Given the description of an element on the screen output the (x, y) to click on. 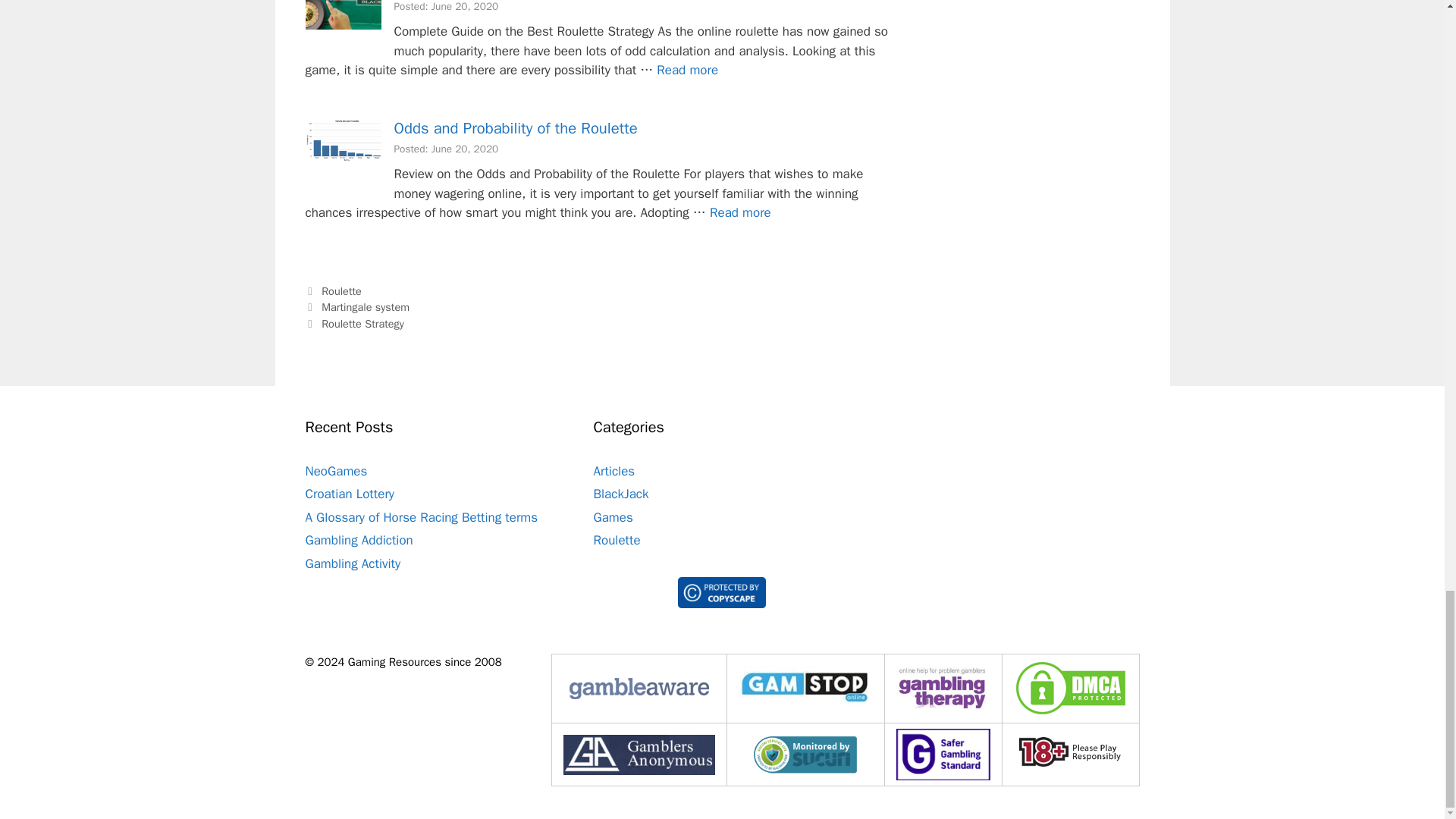
Gambleaware (638, 688)
Read more (686, 69)
Sucuri (805, 754)
GamStop (805, 685)
Gambling Therapy (943, 688)
Roulette Strategy (686, 69)
Gamblers Anonymous (638, 754)
Odds and Probability of the Roulette (740, 212)
